Given the description of an element on the screen output the (x, y) to click on. 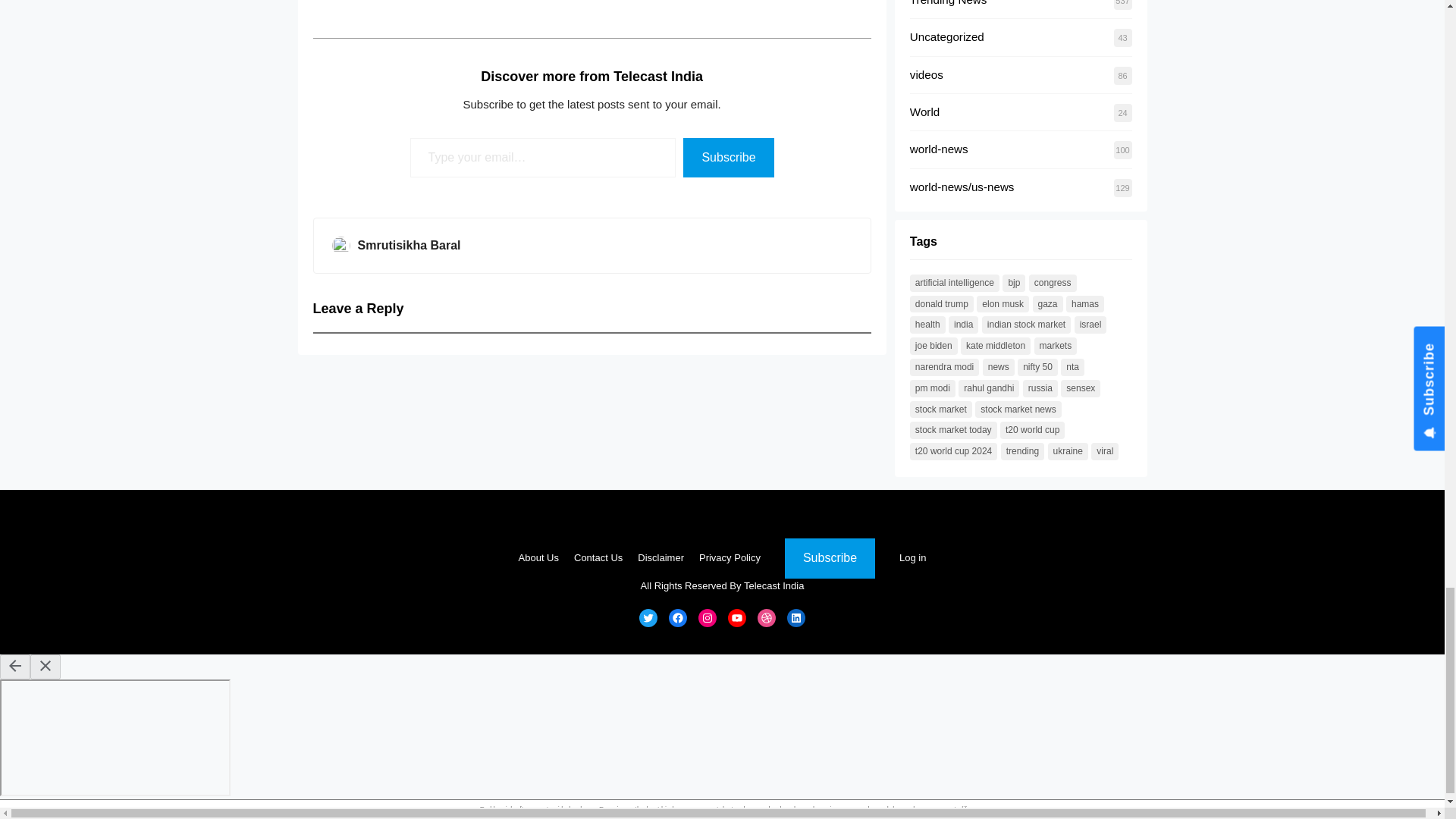
Subscribe (727, 158)
Please fill in this field. (543, 158)
